Given the description of an element on the screen output the (x, y) to click on. 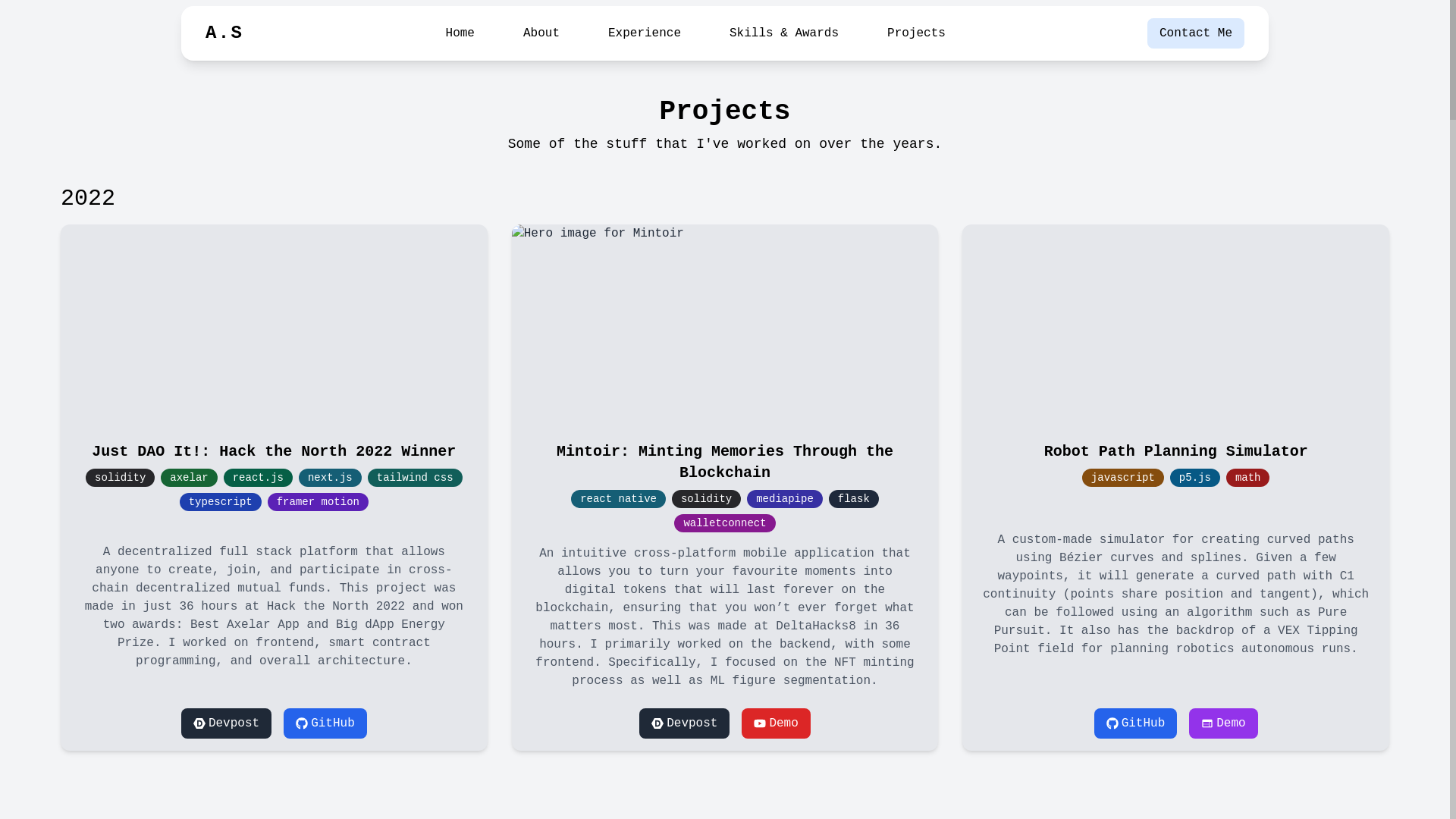
About Element type: text (541, 33)
Devpost Element type: text (226, 723)
Contact Me Element type: text (1195, 33)
GitHub Element type: text (1135, 723)
Demo Element type: text (1223, 723)
Experience Element type: text (644, 33)
Home Element type: text (459, 33)
Devpost Element type: text (684, 723)
Skills & Awards Element type: text (783, 33)
A.S Element type: text (224, 33)
Projects Element type: text (916, 33)
Demo Element type: text (775, 723)
GitHub Element type: text (325, 723)
